Given the description of an element on the screen output the (x, y) to click on. 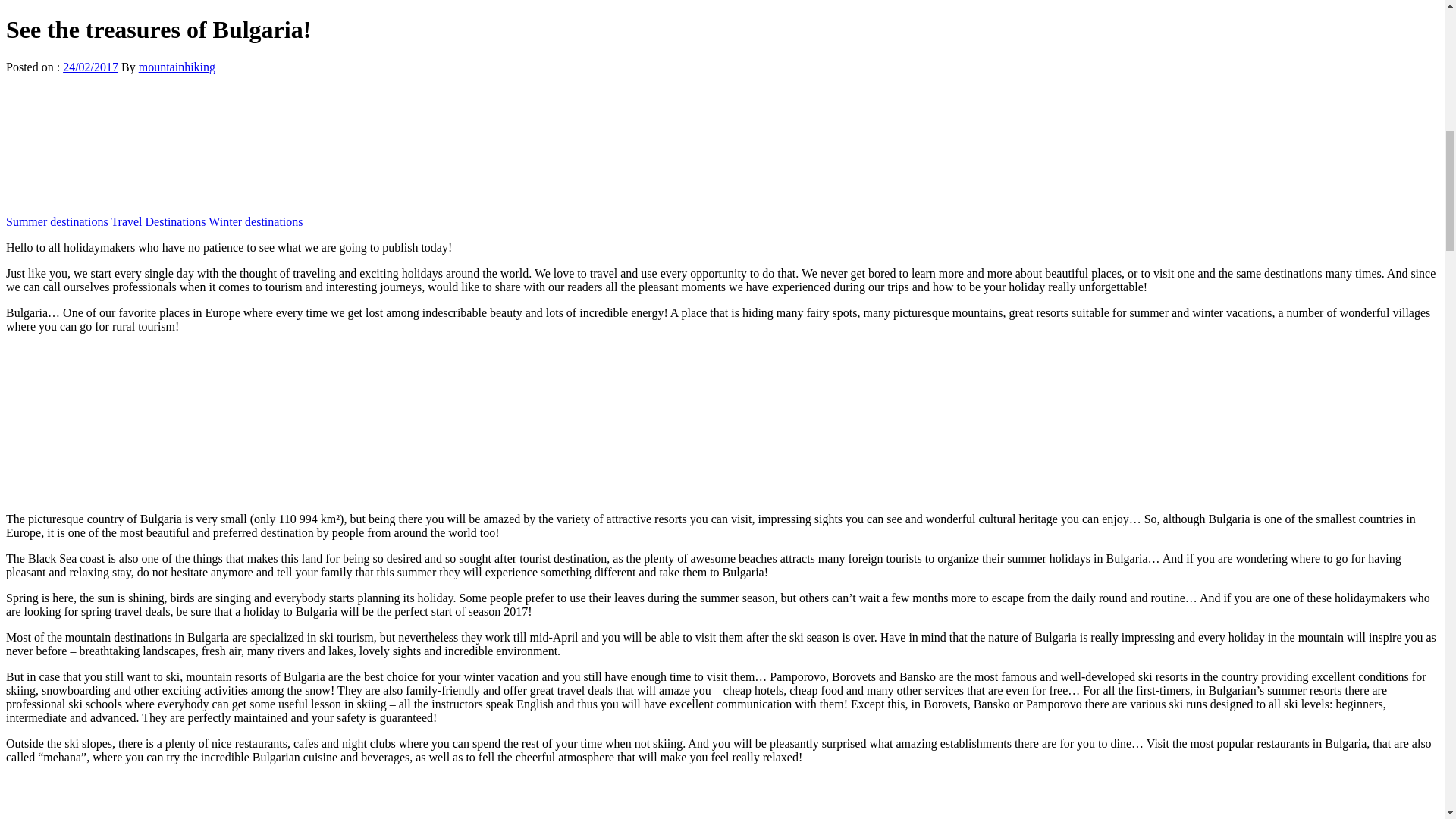
Winter destinations (255, 221)
mountainhiking (176, 66)
Posts by mountainhiking (176, 66)
Summer destinations (56, 221)
Travel Destinations (157, 221)
